Given the description of an element on the screen output the (x, y) to click on. 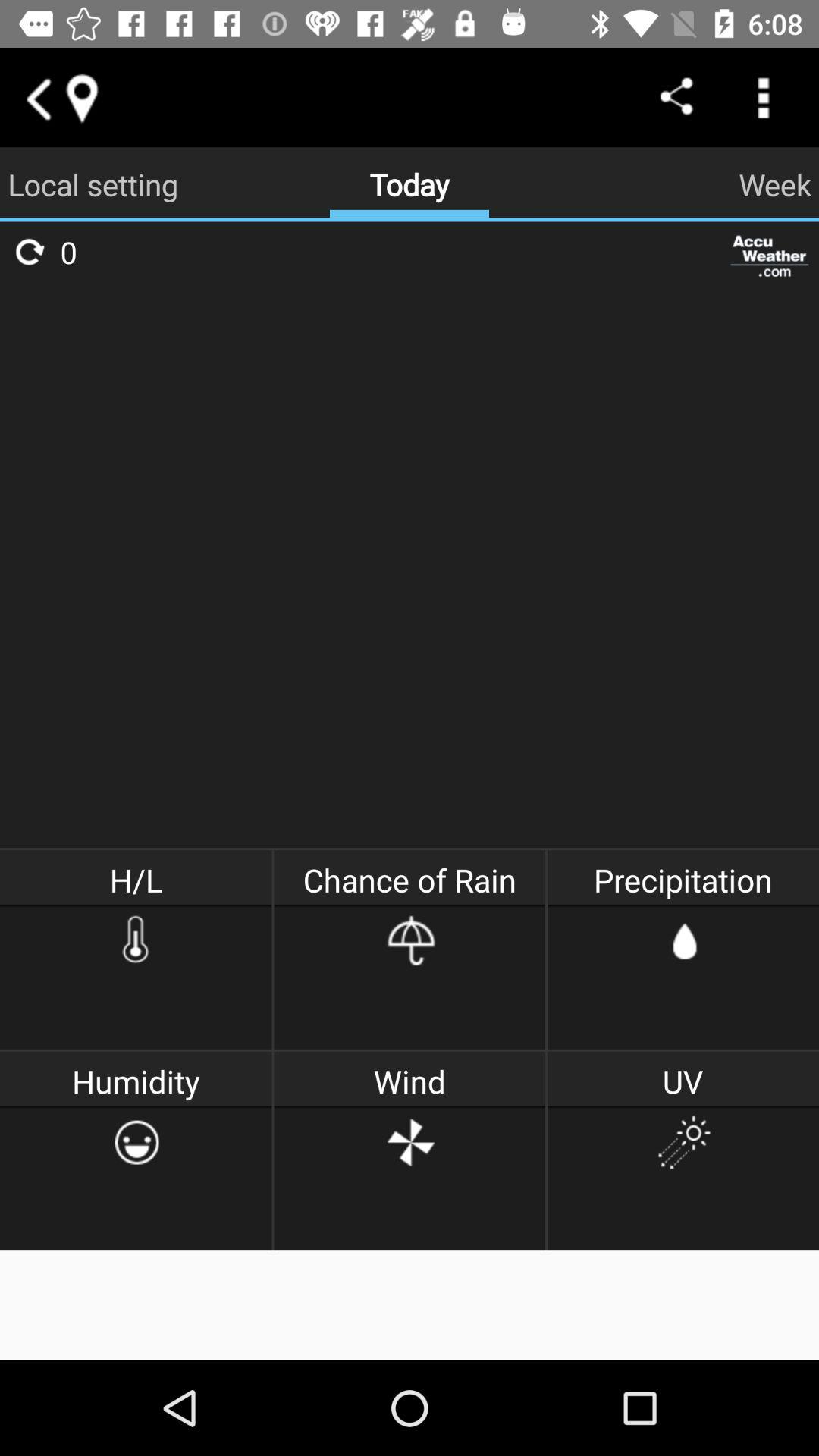
go back (37, 97)
